Given the description of an element on the screen output the (x, y) to click on. 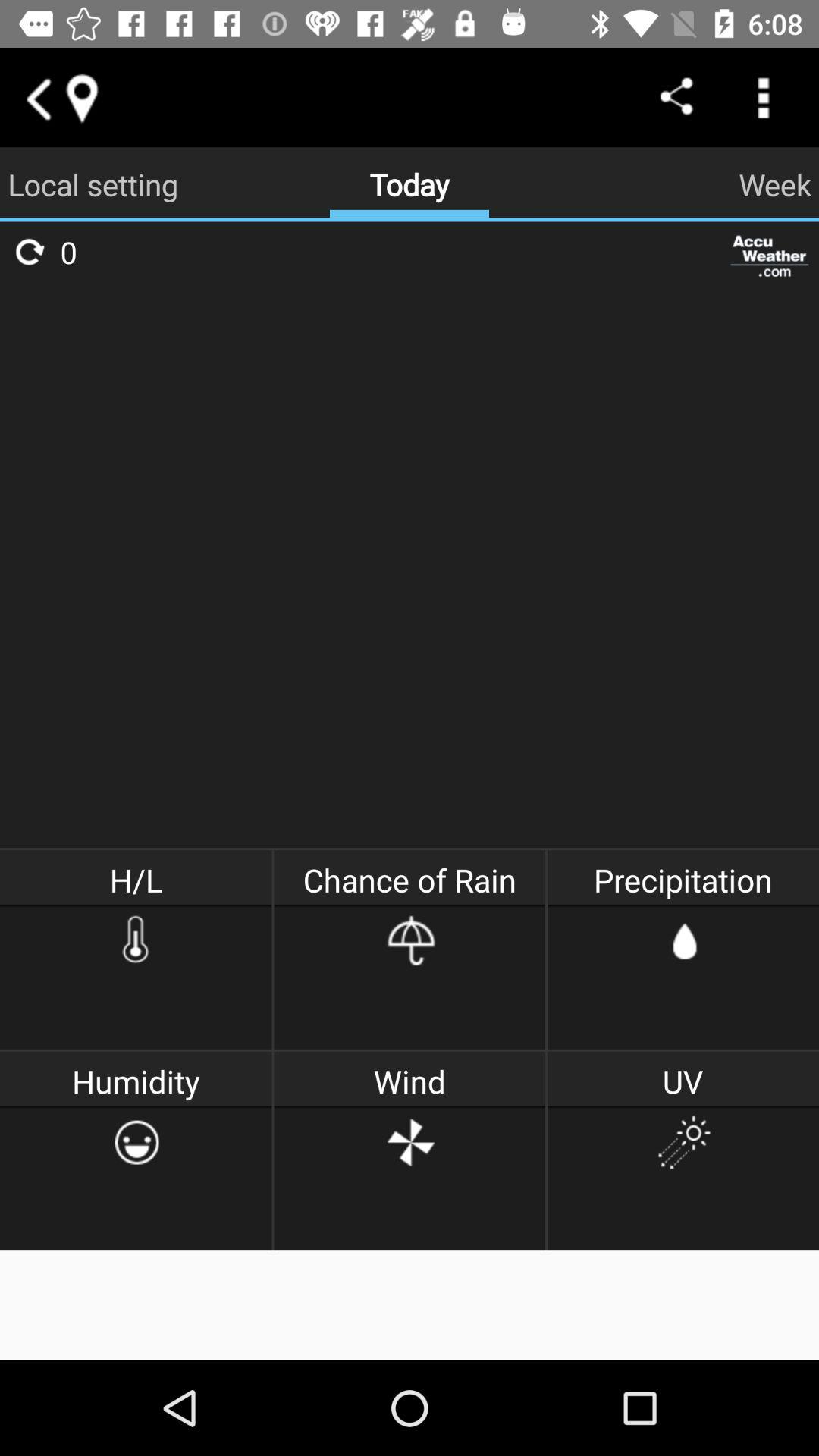
go back (37, 97)
